Given the description of an element on the screen output the (x, y) to click on. 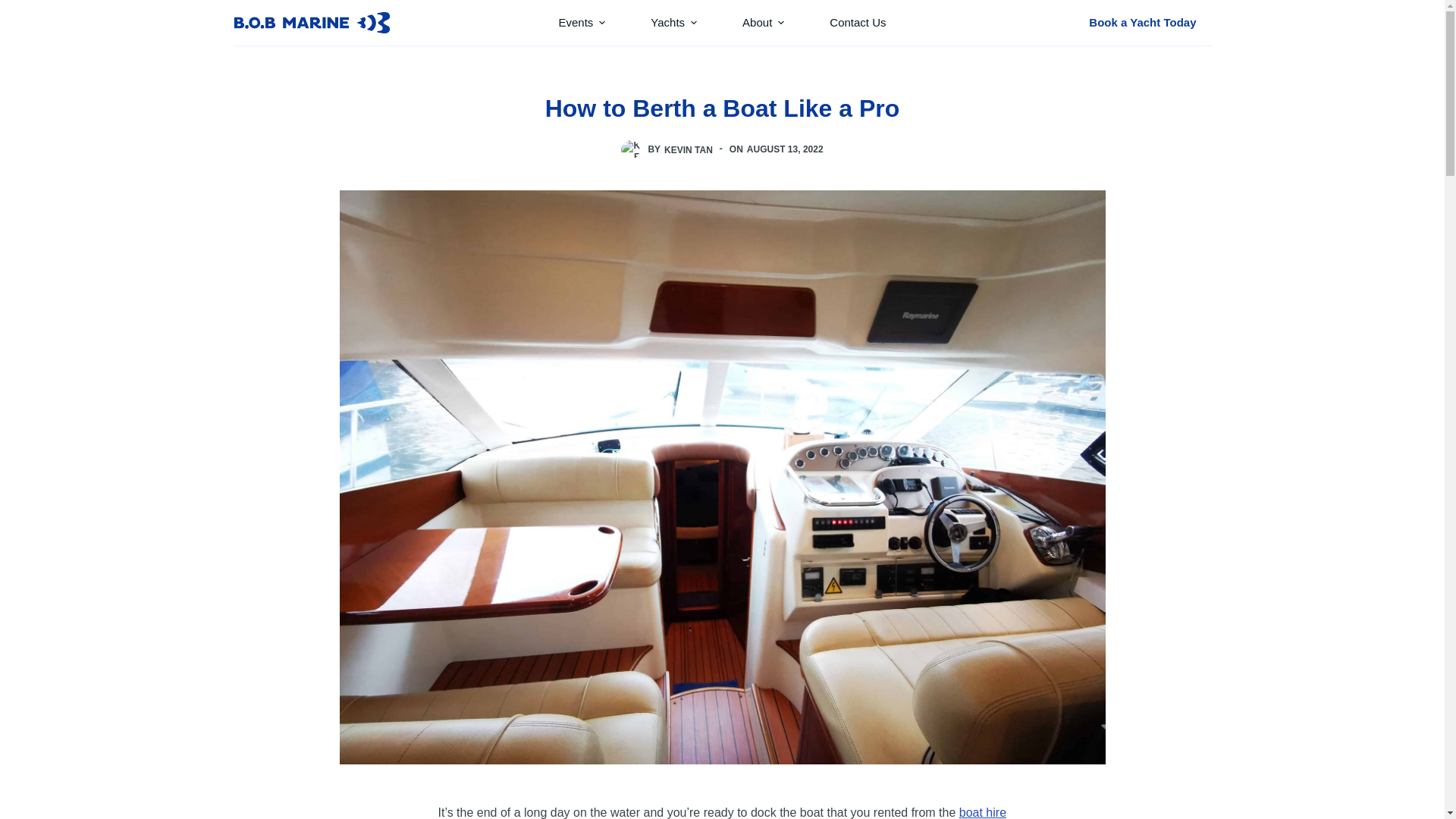
Contact Us (857, 22)
Yachts (673, 22)
Posts by Kevin Tan (688, 149)
Events (581, 22)
Skip to content (15, 7)
How to Berth a Boat Like a Pro (722, 108)
About (762, 22)
Book a Yacht Today (1142, 22)
